Given the description of an element on the screen output the (x, y) to click on. 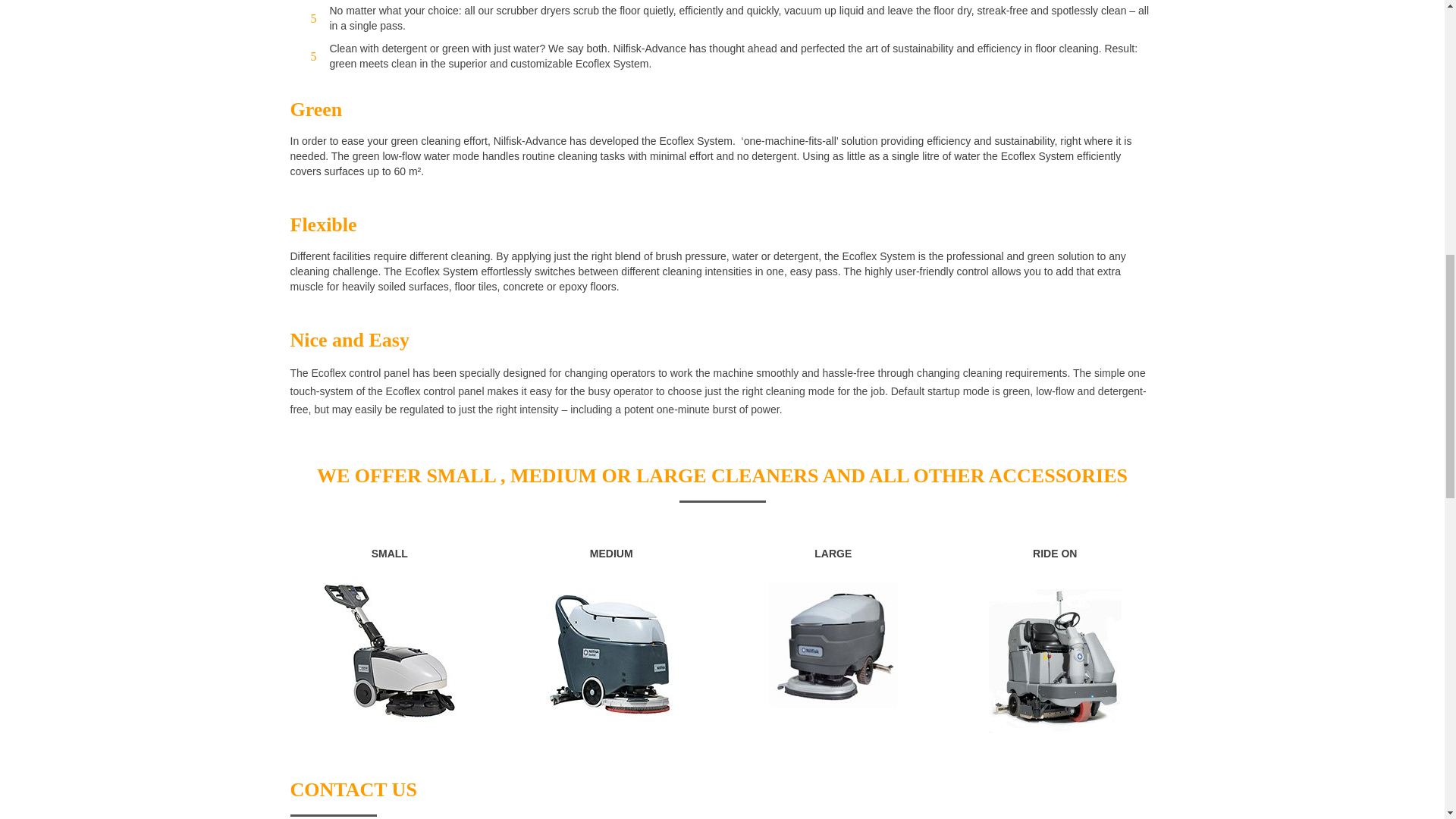
small (389, 654)
large (833, 644)
ride-on (1054, 654)
medium (611, 654)
